Given the description of an element on the screen output the (x, y) to click on. 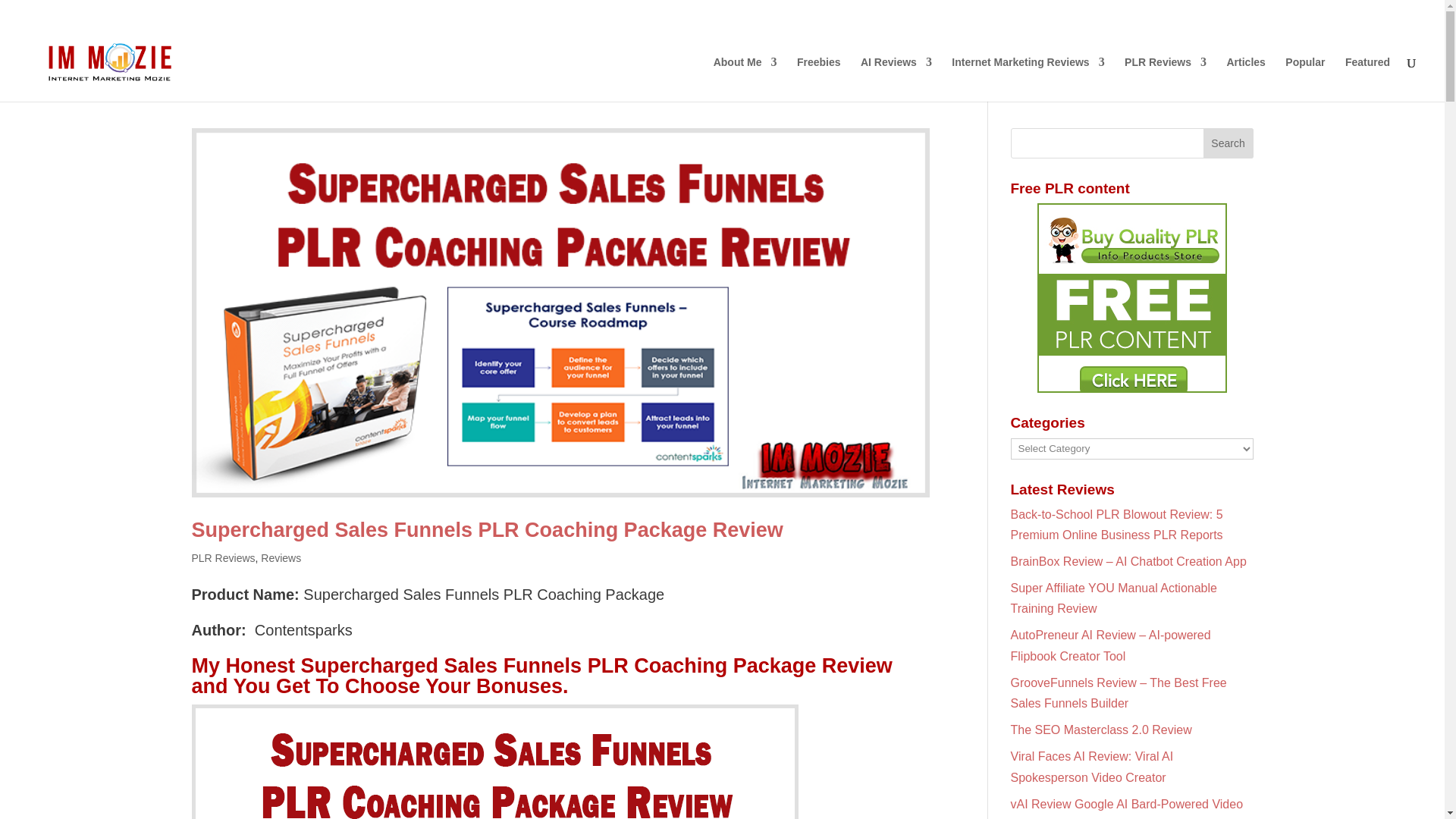
Read more about me here. (745, 78)
See a list of our latest freebies for 2014! (818, 78)
Free PLR content (1131, 298)
PLR Reviews (1165, 78)
About Me (745, 78)
AI Reviews (895, 78)
Search (1228, 142)
Freebies (818, 78)
Internet Marketing Reviews (1027, 78)
